Given the description of an element on the screen output the (x, y) to click on. 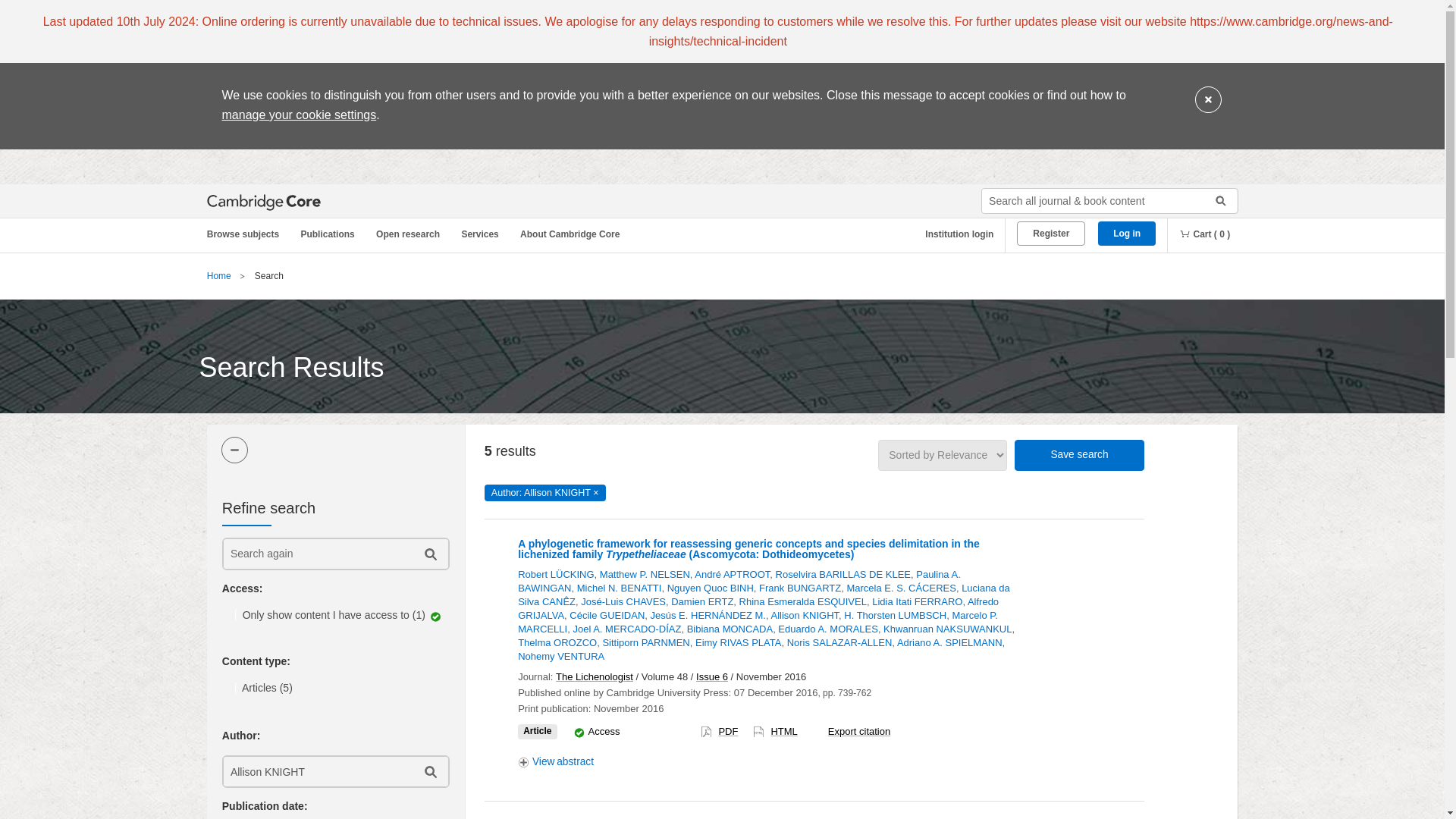
Submit author search (429, 771)
About Cambridge Core (572, 234)
Submit search (1214, 200)
Submit refine search (429, 553)
Open research (410, 234)
Browse subjects (250, 234)
Close cookie message (1208, 99)
Submit search (1214, 200)
Services (482, 234)
Publications (330, 234)
You have access to this product (579, 732)
Institution login (953, 234)
manage your cookie settings (298, 114)
Allison KNIGHT (316, 771)
You have access to this product (604, 731)
